Given the description of an element on the screen output the (x, y) to click on. 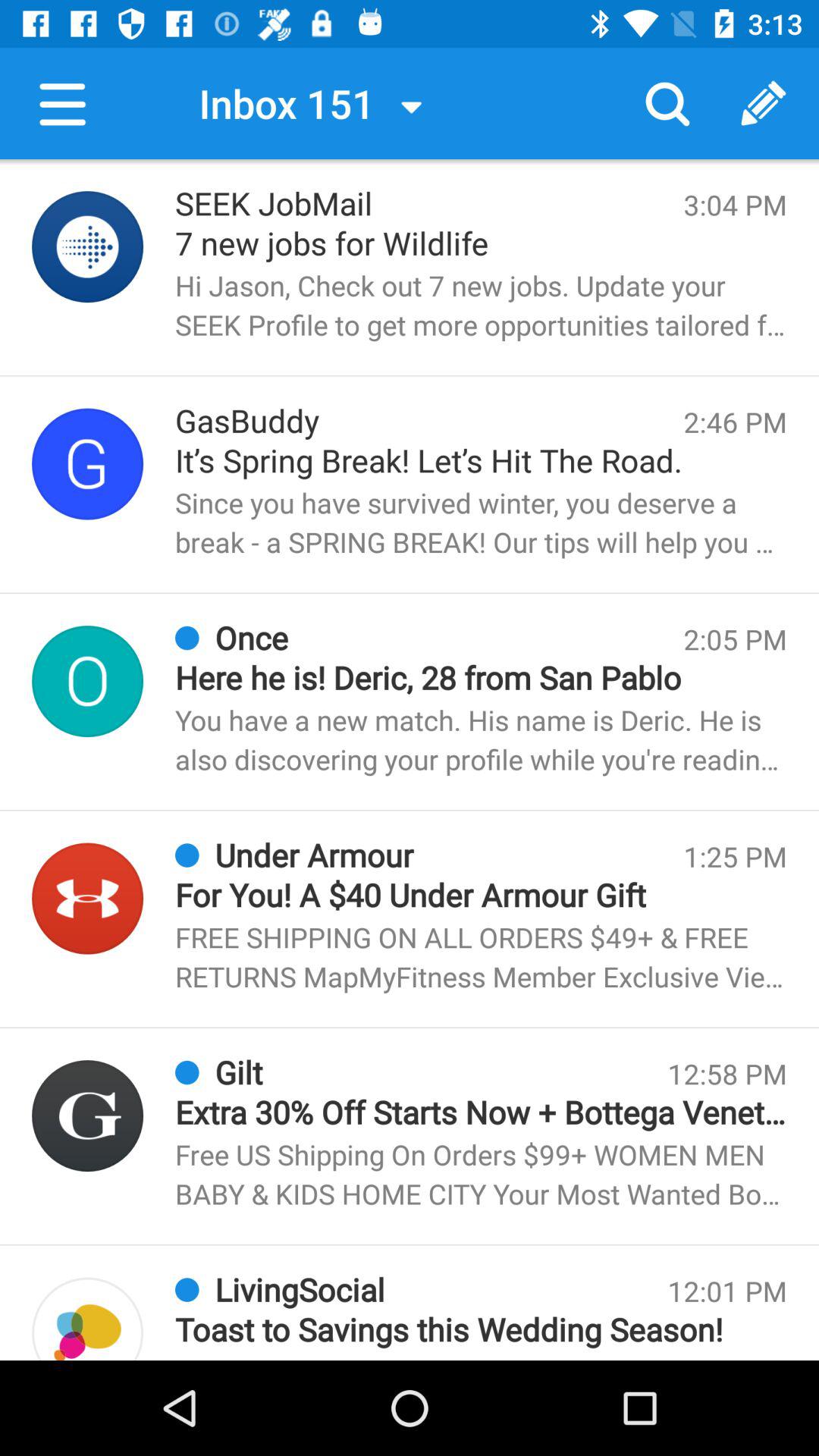
select menu button (63, 103)
select the button next to search button (763, 103)
click on image in the first message (87, 246)
